Given the description of an element on the screen output the (x, y) to click on. 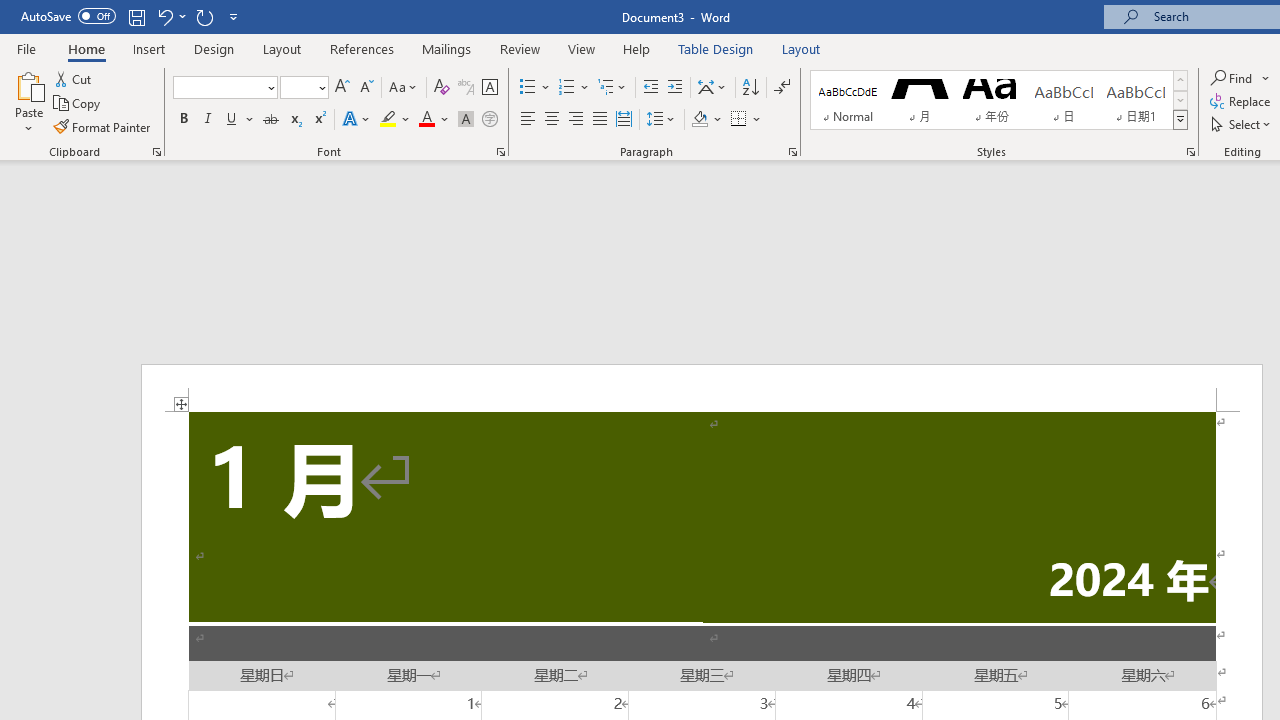
Font Color RGB(255, 0, 0) (426, 119)
